Given the description of an element on the screen output the (x, y) to click on. 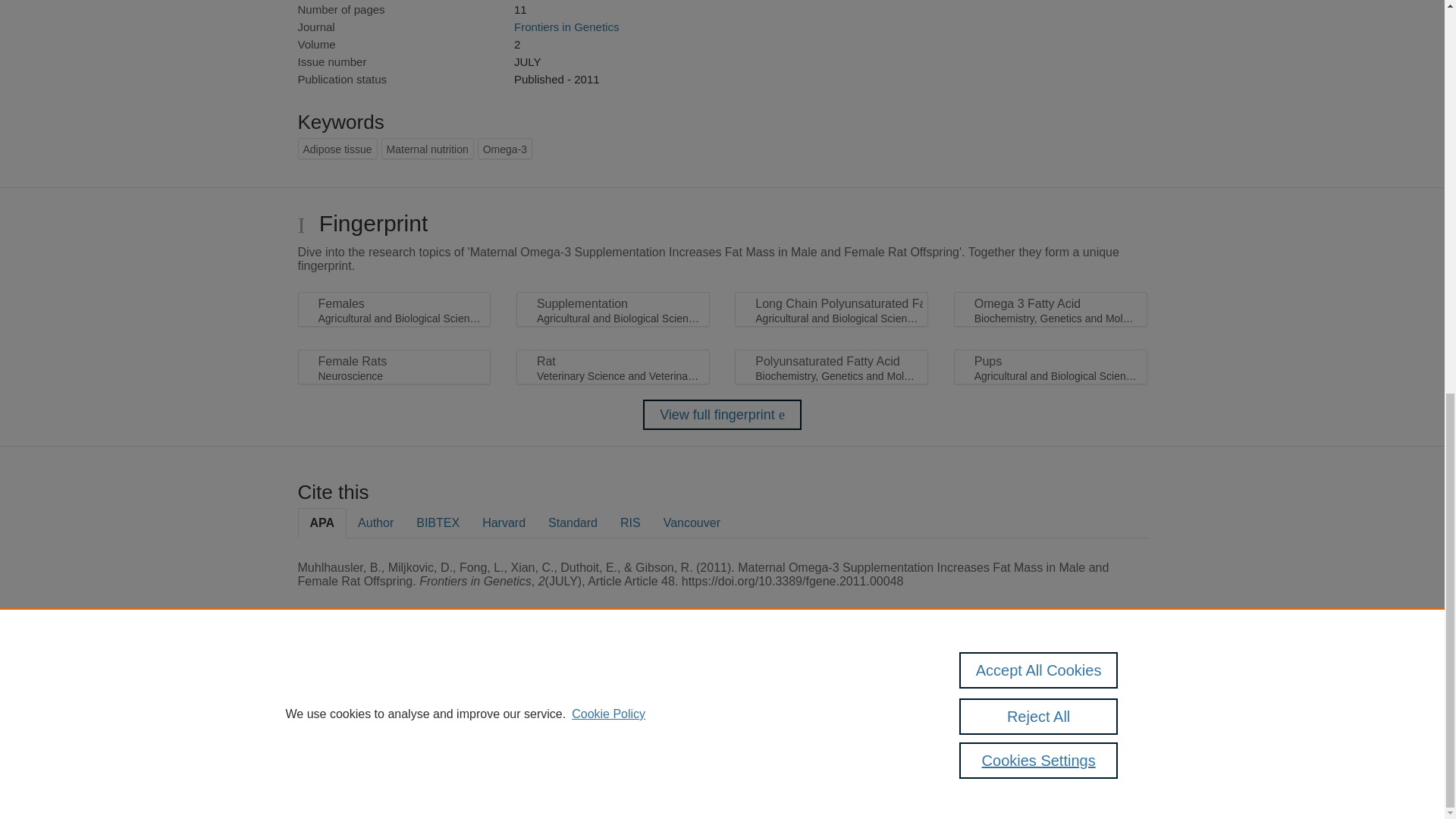
Log in to ResearchNow (347, 781)
use of cookies (796, 739)
Elsevier B.V. (506, 707)
Report vulnerability (1090, 724)
Frontiers in Genetics (565, 26)
Cookies Settings (334, 760)
About web accessibility (1090, 692)
Scopus (394, 686)
View full fingerprint (722, 414)
Pure (362, 686)
